Given the description of an element on the screen output the (x, y) to click on. 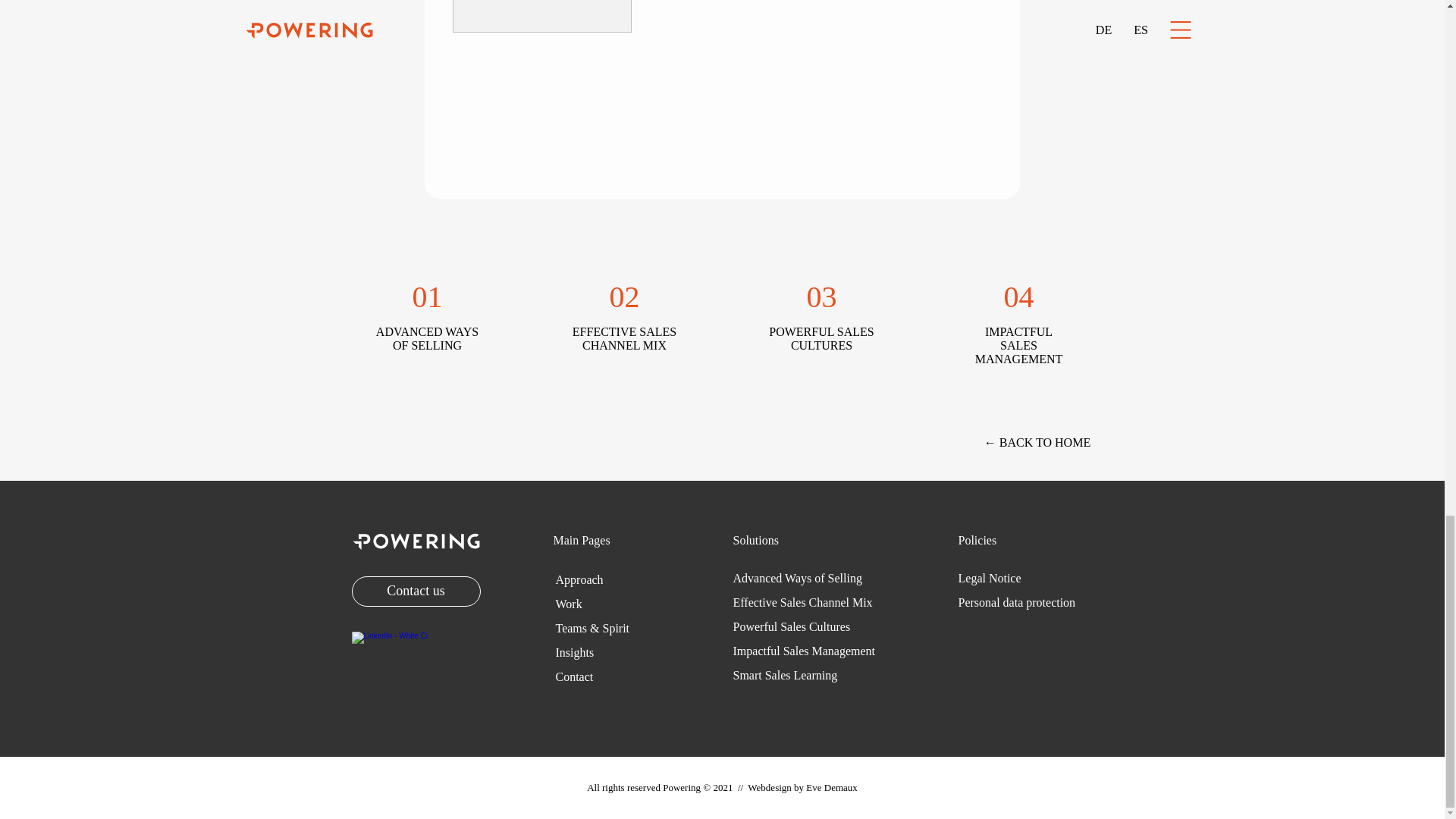
Work (567, 603)
Legal Notice (990, 577)
EFFECTIVE SALES CHANNEL MIX (624, 338)
Insights (574, 652)
Contact us (416, 591)
Effective Sales Channel Mix (802, 602)
Eve Demaux (831, 787)
IMPACTFUL SALES MANAGEMENT (1018, 345)
04 (1018, 296)
Smart Sales Learning (784, 675)
